Given the description of an element on the screen output the (x, y) to click on. 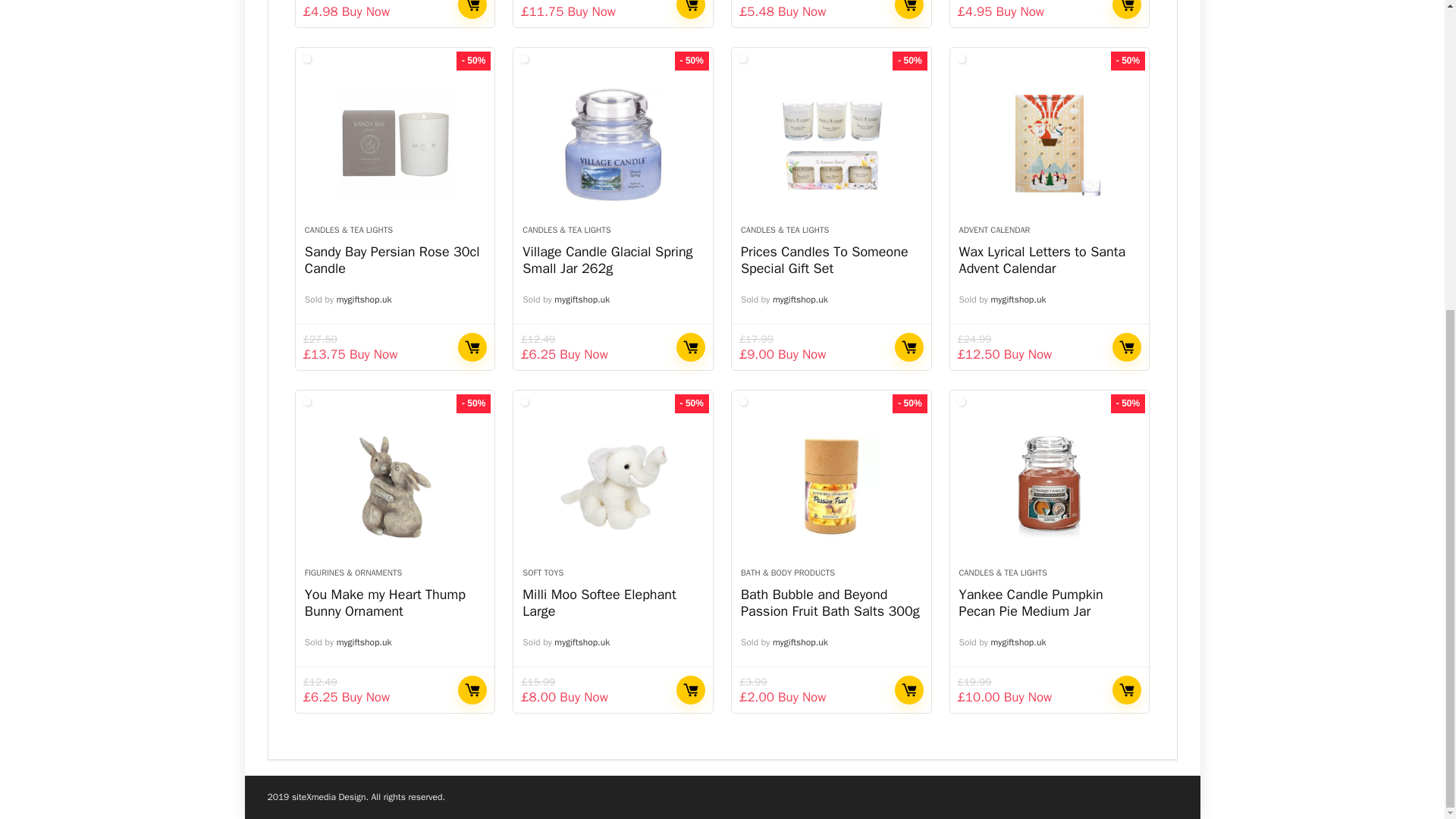
ADD TO BASKET (1126, 9)
ADD TO BASKET (472, 9)
Village Candle Glacial Spring Small Jar 262g (612, 144)
ADD TO BASKET (690, 9)
ADD TO BASKET (909, 9)
Sandy Bay Persian Rose 30cl Candle (395, 144)
Sandy Bay Persian Rose 30cl Candle (392, 259)
Prices Candles To Someone Special Gift Set (831, 144)
Wax Lyrical Letters to Santa Advent Calendar (1049, 144)
